Given the description of an element on the screen output the (x, y) to click on. 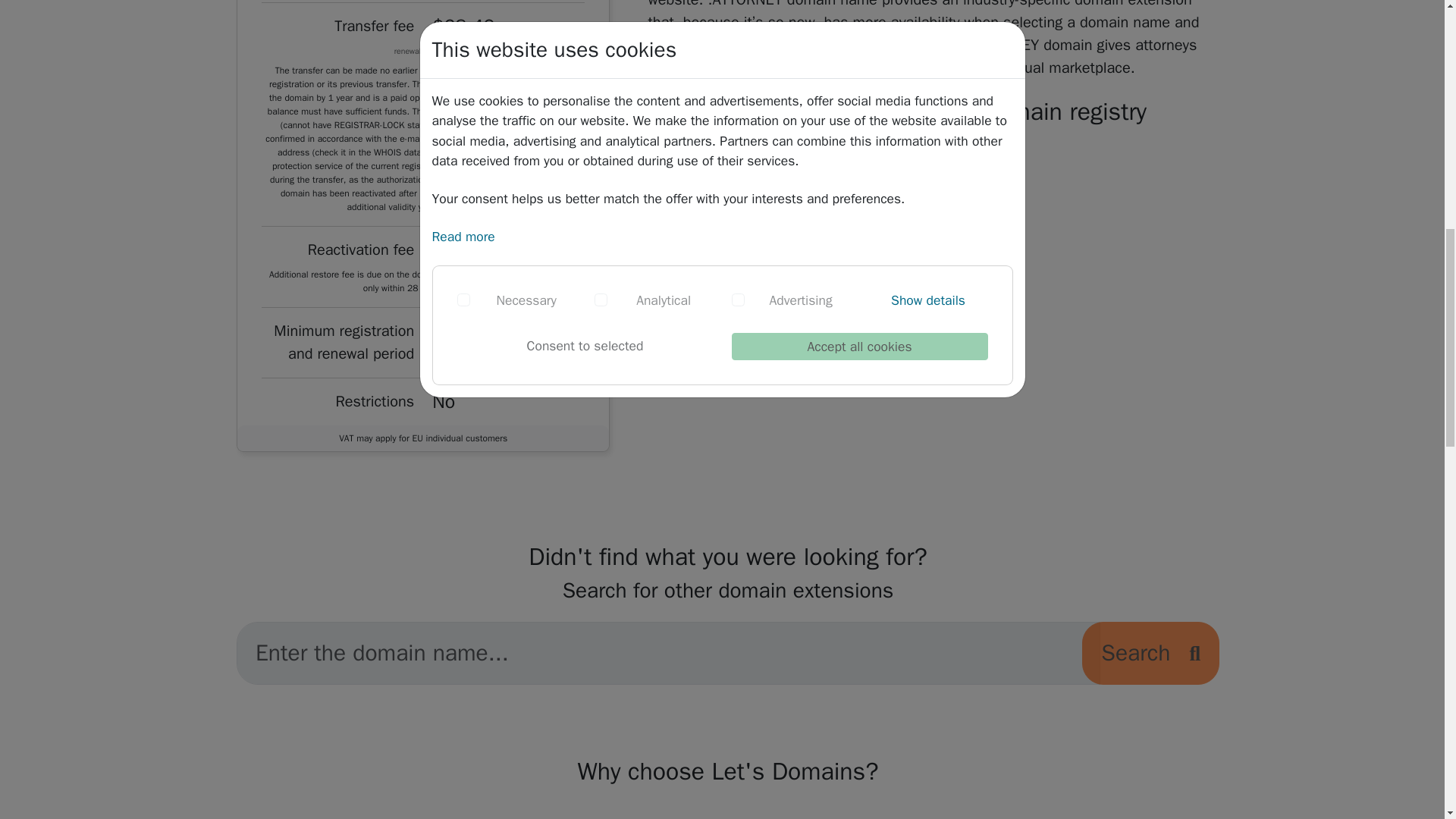
Search (1150, 652)
